Given the description of an element on the screen output the (x, y) to click on. 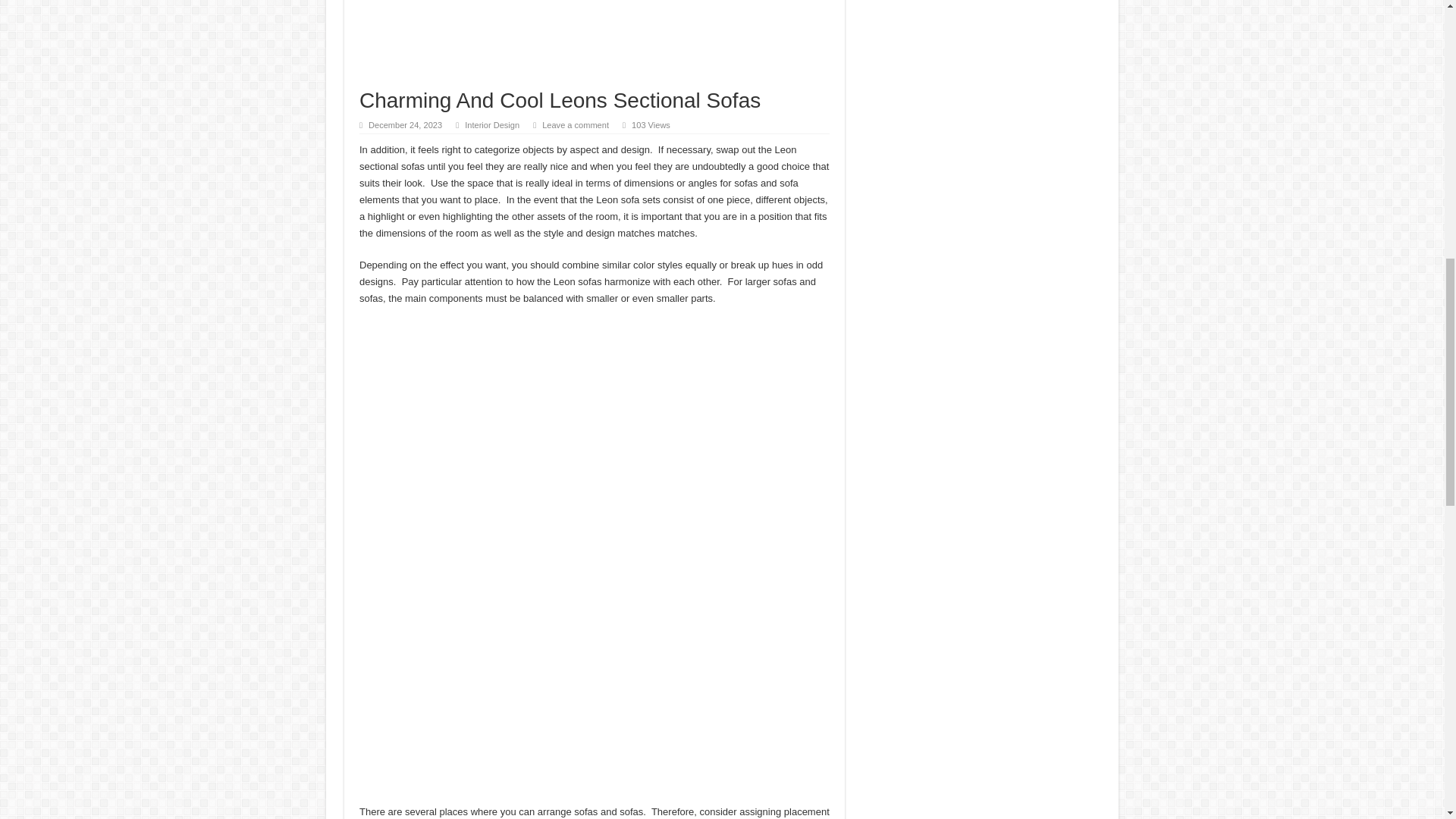
Leave a comment (574, 124)
Advertisement (594, 44)
Interior Design (491, 124)
